Given the description of an element on the screen output the (x, y) to click on. 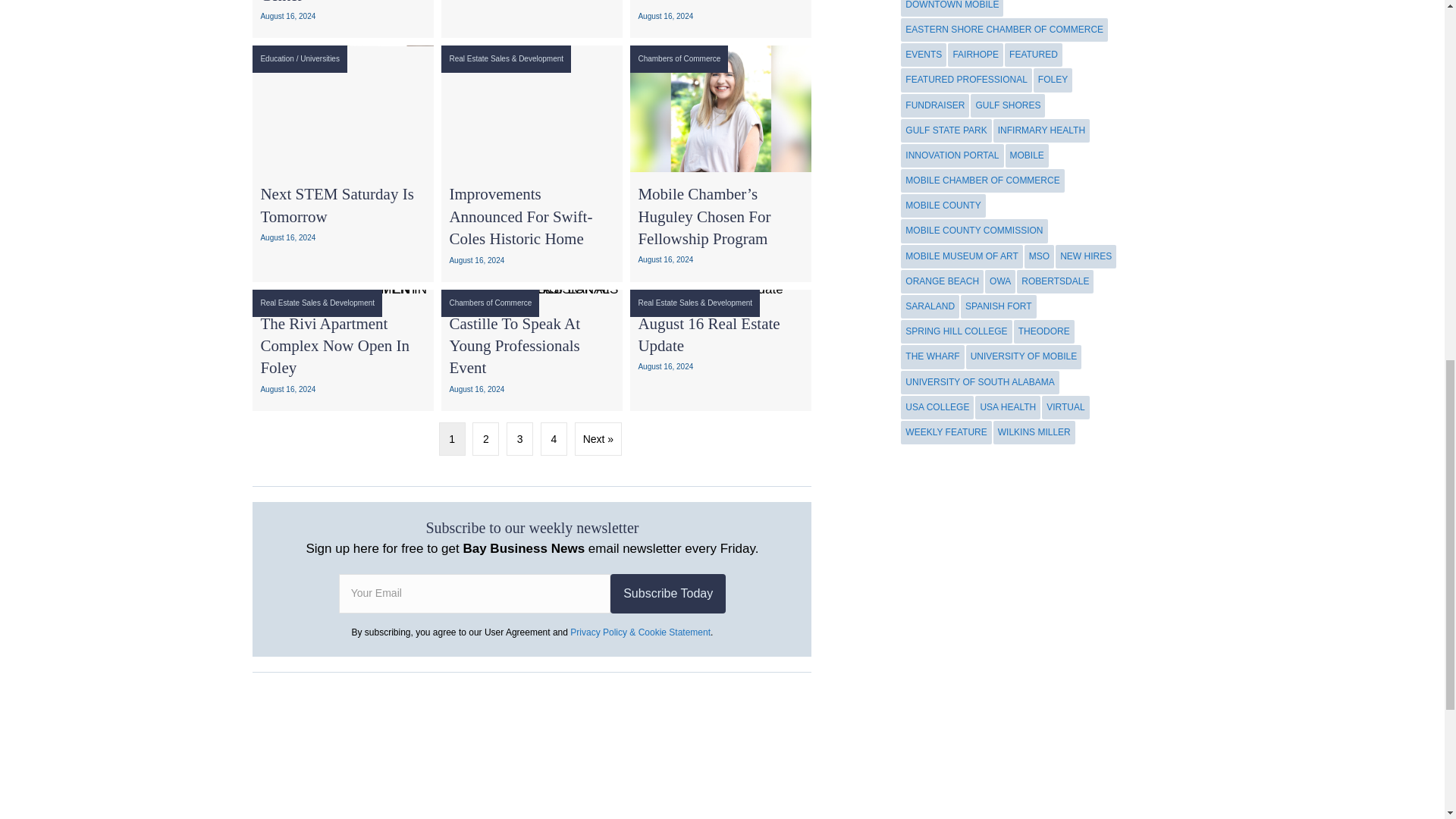
NEXT STEM SATURDAY IS TOMORROW (342, 108)
Mobile County Commission Awards Contract For Aquatic Center (342, 18)
Six Businesses Open Or Coming To The Shoppes At Bel Air (532, 18)
